Given the description of an element on the screen output the (x, y) to click on. 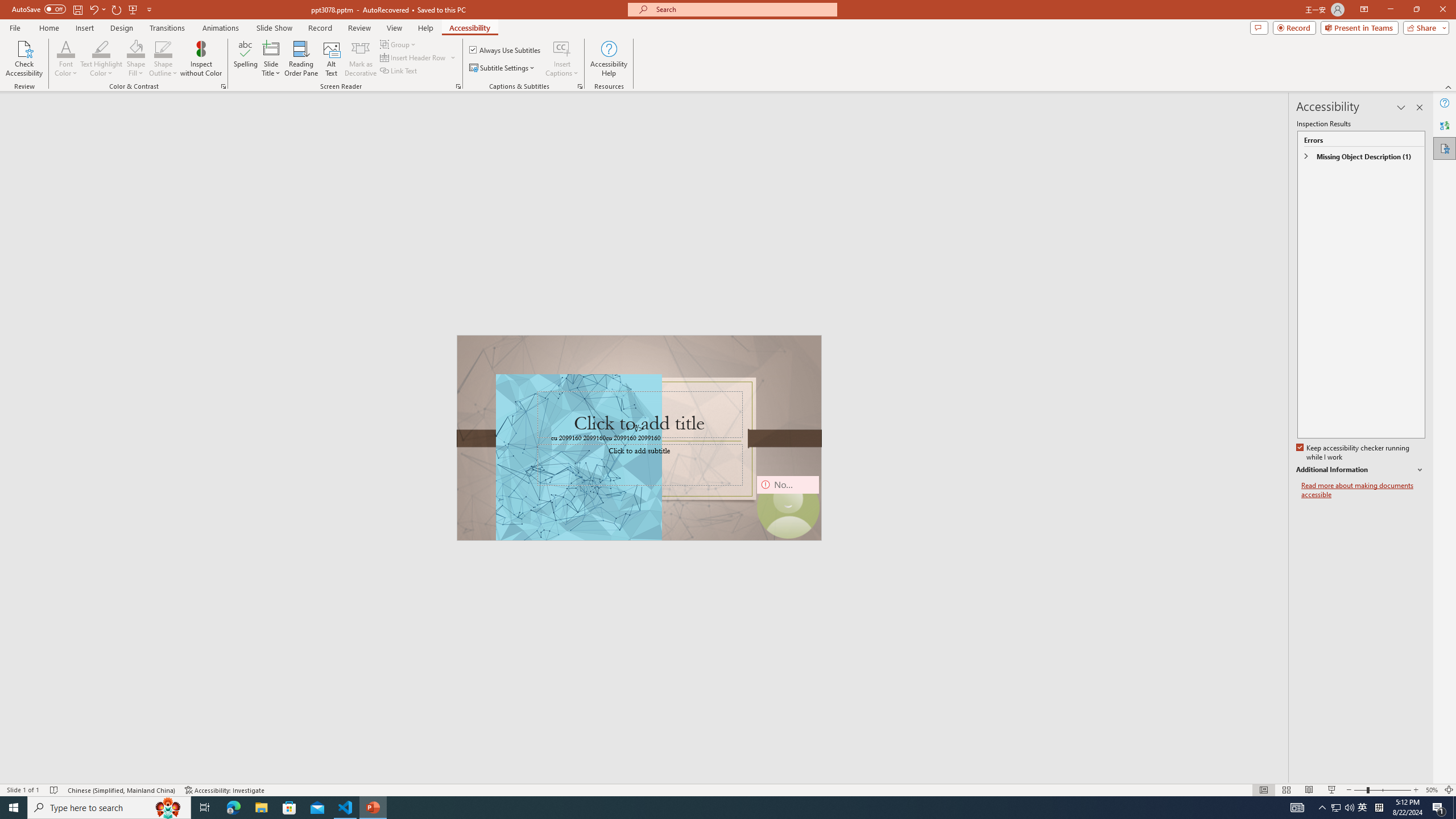
Camera 9, No camera detected. (787, 506)
Shape Outline (163, 48)
Inspect without Color (201, 58)
Insert Header Row (413, 56)
